Given the description of an element on the screen output the (x, y) to click on. 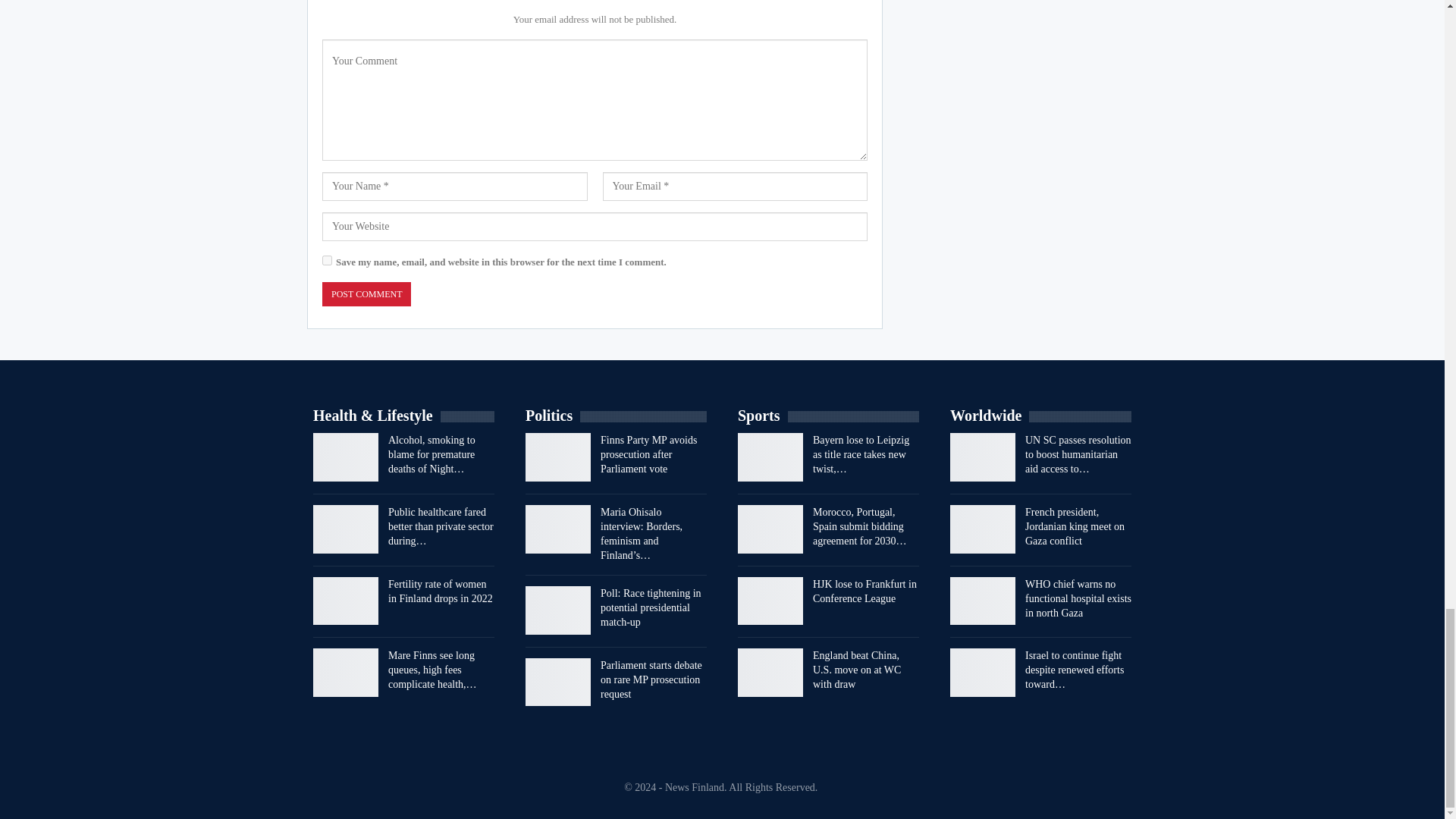
yes (326, 260)
Post Comment (365, 294)
